Given the description of an element on the screen output the (x, y) to click on. 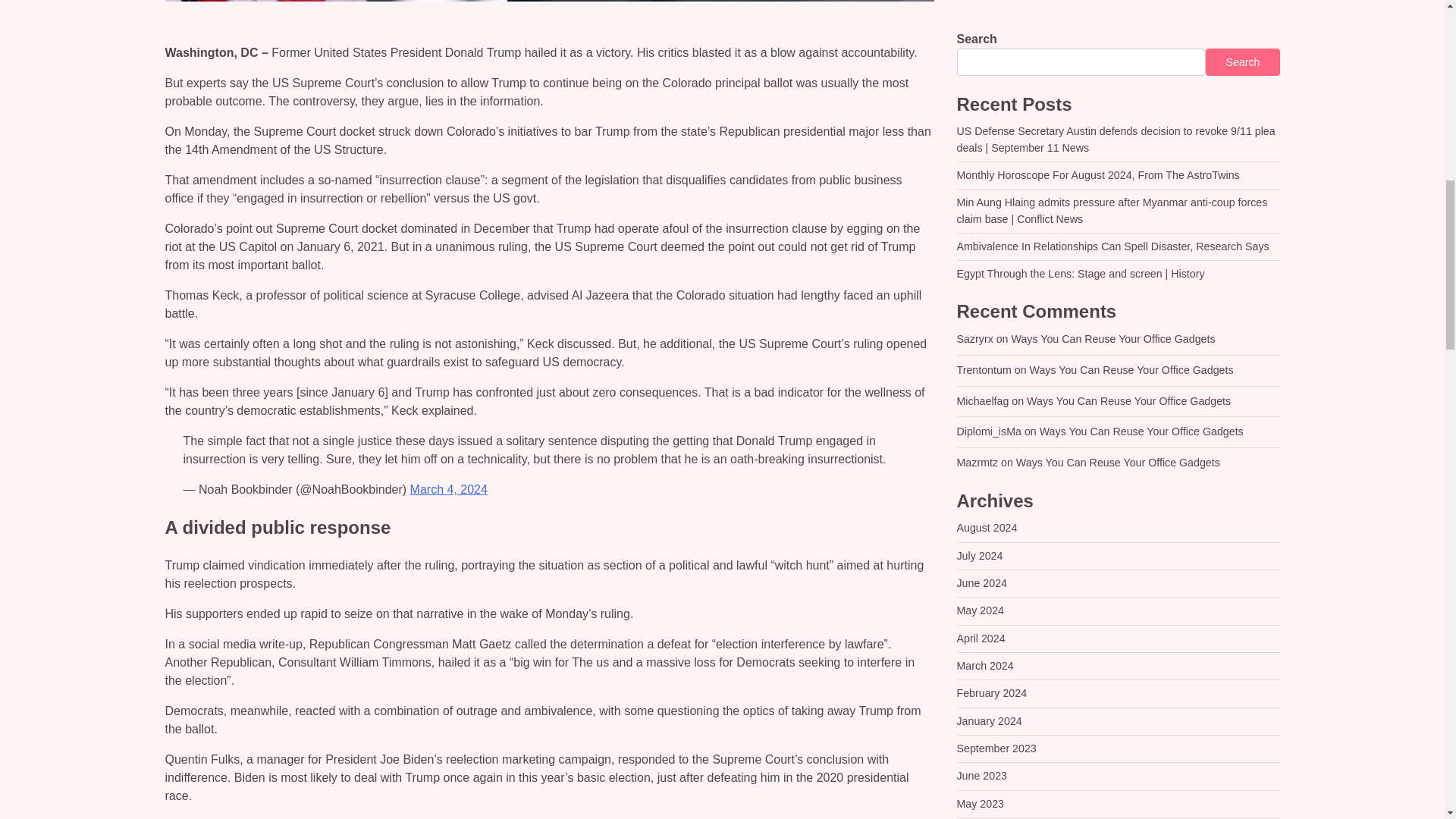
March 4, 2024 (448, 489)
September 2022 (996, 245)
May 2023 (980, 80)
November 2022 (994, 190)
December 2022 (994, 162)
June 2023 (981, 51)
September 2023 (996, 24)
March 2023 (984, 107)
October 2022 (989, 217)
January 2024 (989, 2)
February 2023 (991, 134)
